Given the description of an element on the screen output the (x, y) to click on. 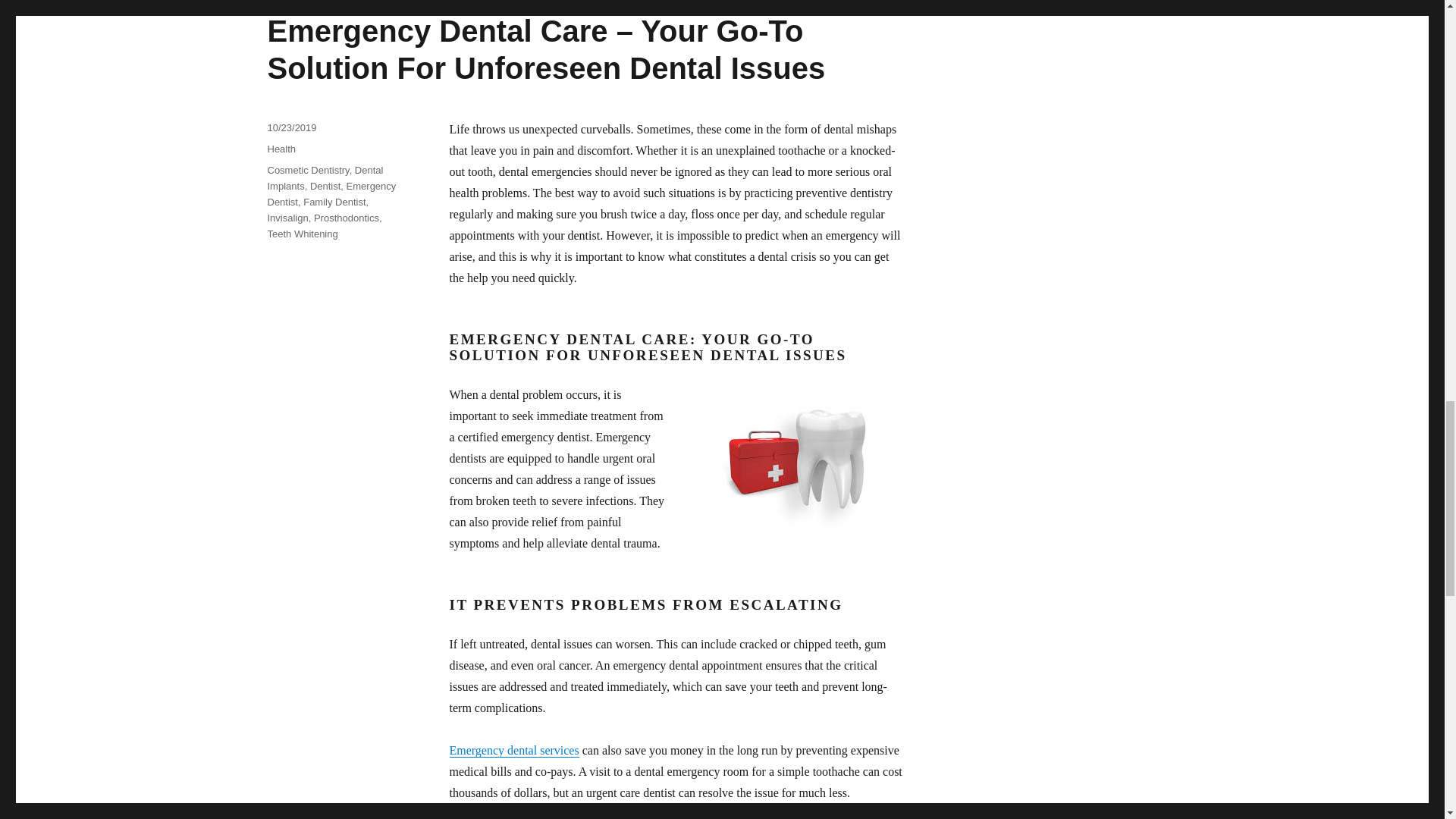
Dentist (325, 185)
Prosthodontics (346, 217)
Health (280, 148)
Family Dentist (333, 202)
Invisalign (286, 217)
Cosmetic Dentistry (307, 170)
Emergency dental services (513, 749)
Teeth Whitening (301, 233)
Dental Implants (324, 177)
Emergency Dentist (331, 194)
